Given the description of an element on the screen output the (x, y) to click on. 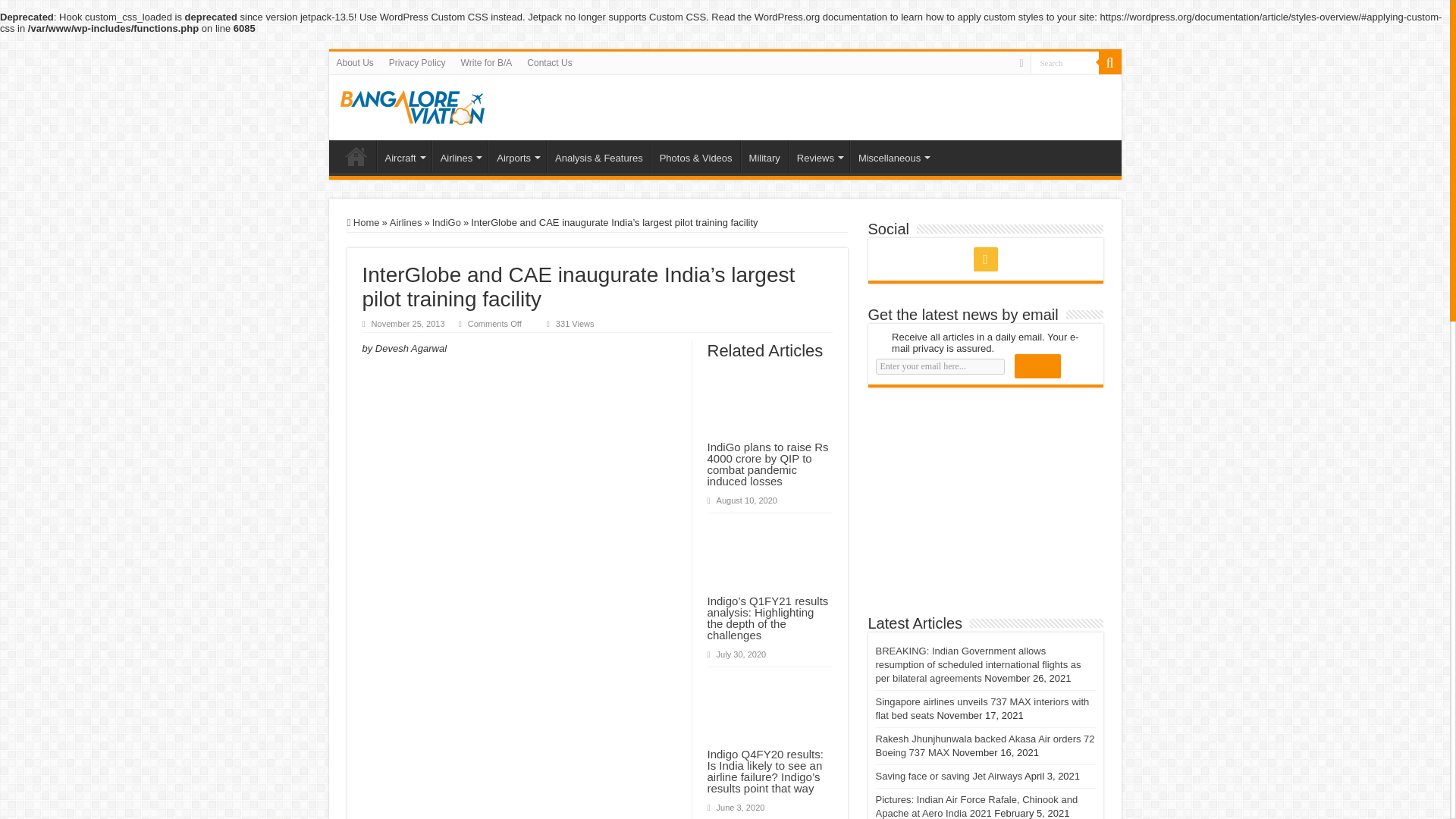
Home (355, 155)
Subscribe (1037, 365)
Airports (516, 155)
Search (1063, 62)
Contact Us (549, 62)
Search (1063, 62)
Aircraft (402, 155)
About Us (355, 62)
Airlines (459, 155)
Bangalore Aviation (411, 104)
